Given the description of an element on the screen output the (x, y) to click on. 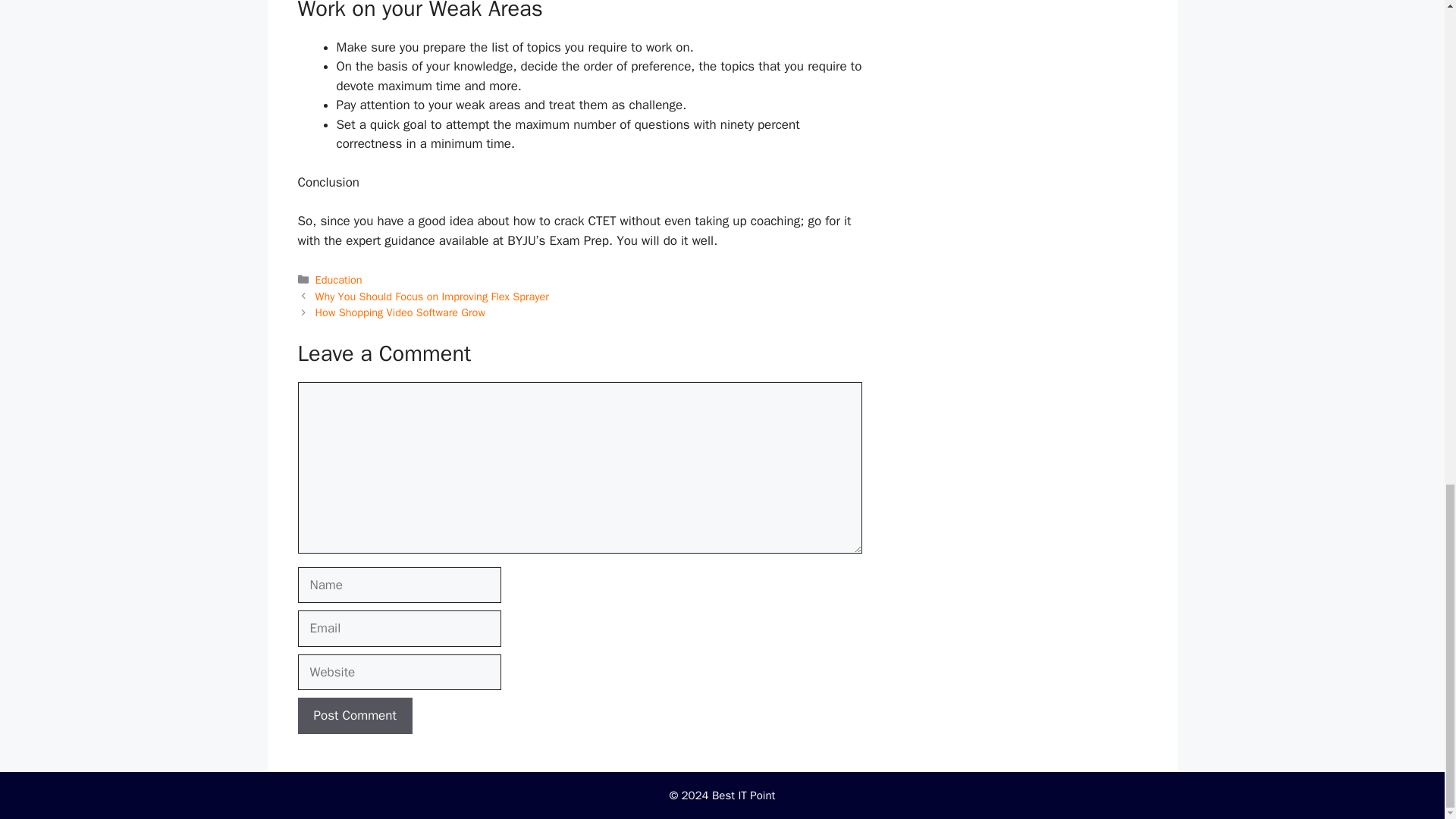
Scroll back to top (1406, 338)
Post Comment (354, 715)
Why You Should Focus on Improving Flex Sprayer (431, 296)
Post Comment (354, 715)
How Shopping Video Software Grow (399, 312)
Education (338, 279)
